Given the description of an element on the screen output the (x, y) to click on. 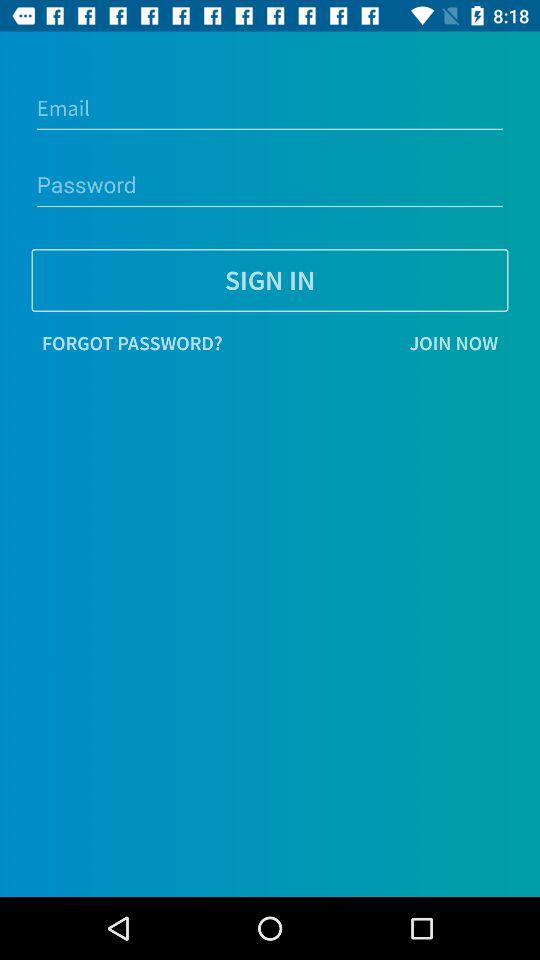
turn on the item below the sign in (370, 343)
